Given the description of an element on the screen output the (x, y) to click on. 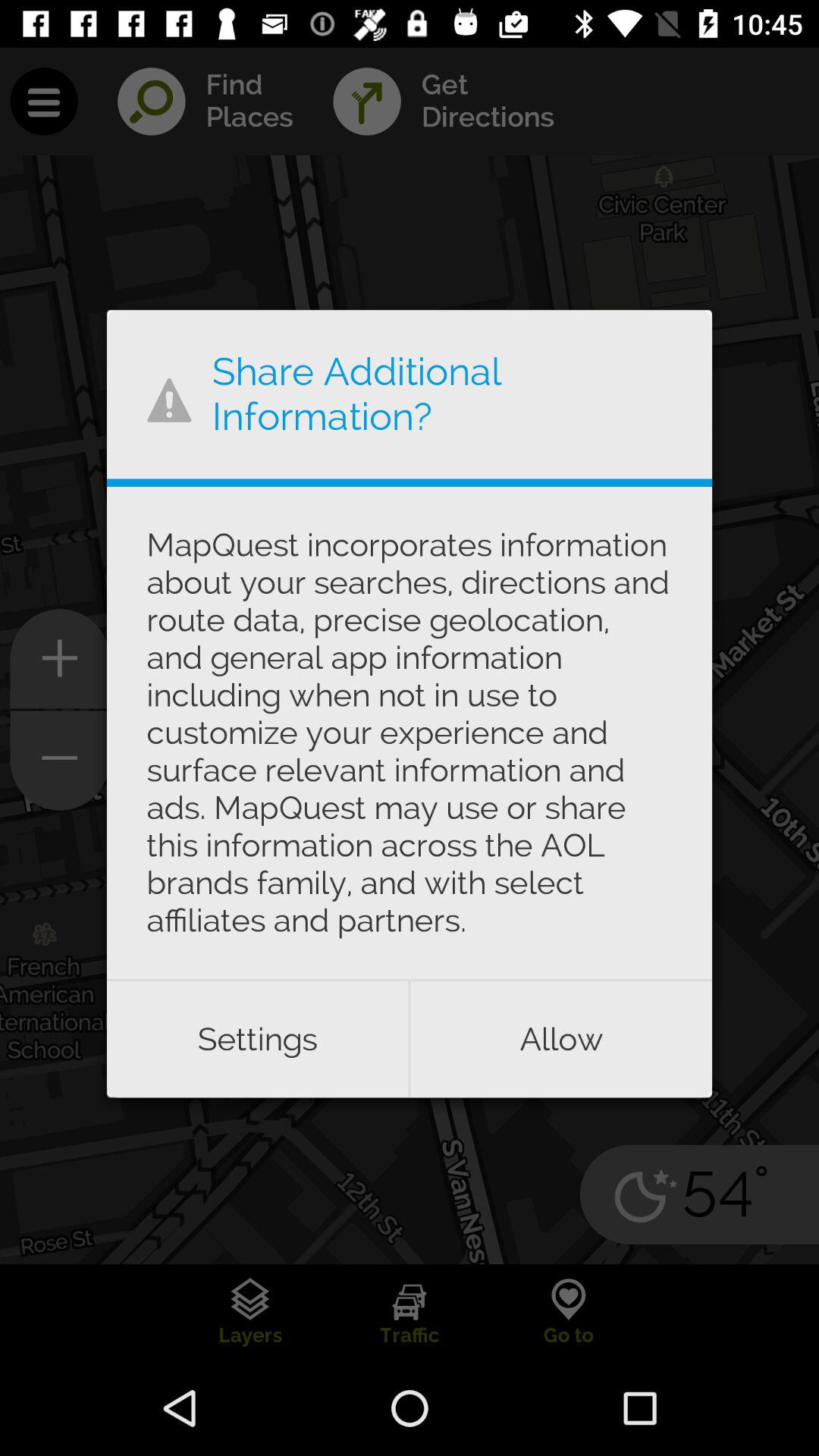
turn on allow item (561, 1039)
